Given the description of an element on the screen output the (x, y) to click on. 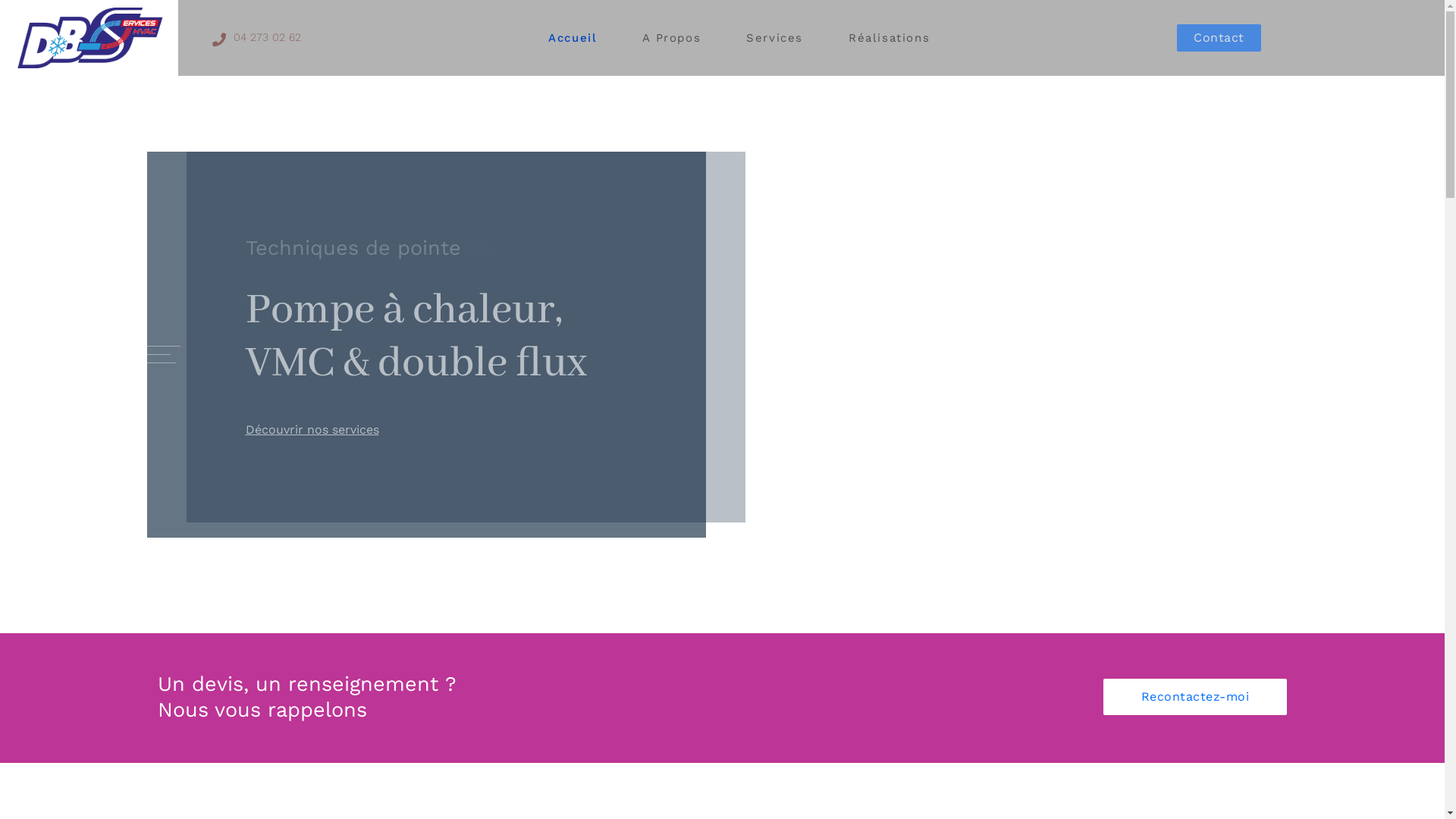
Services Element type: text (774, 37)
Accueil Element type: text (572, 37)
A Propos Element type: text (671, 37)
Recontactez-moi Element type: text (1195, 696)
04 273 02 62 Element type: text (267, 37)
Contact Element type: text (1218, 37)
